Given the description of an element on the screen output the (x, y) to click on. 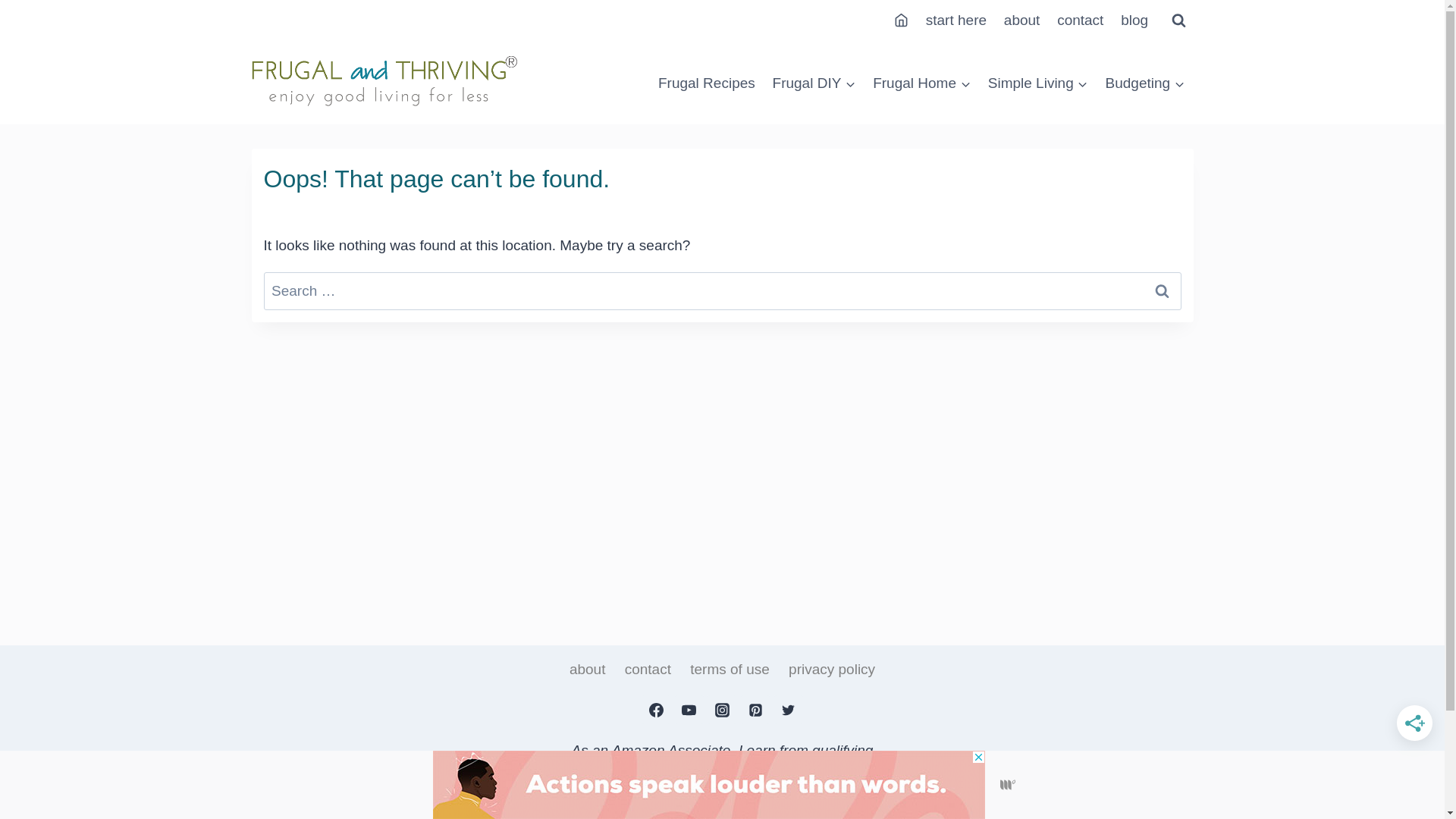
Search Element type: text (1162, 290)
about Element type: text (1021, 20)
Frugal Home Element type: text (921, 82)
contact Element type: text (647, 669)
Frugal DIY Element type: text (813, 82)
start here Element type: text (955, 20)
blog Element type: text (1134, 20)
terms of use Element type: text (729, 669)
privacy policy Element type: text (831, 669)
Frugal Recipes Element type: text (706, 82)
about Element type: text (587, 669)
Budgeting Element type: text (1144, 82)
Simple Living Element type: text (1037, 82)
contact Element type: text (1080, 20)
